Given the description of an element on the screen output the (x, y) to click on. 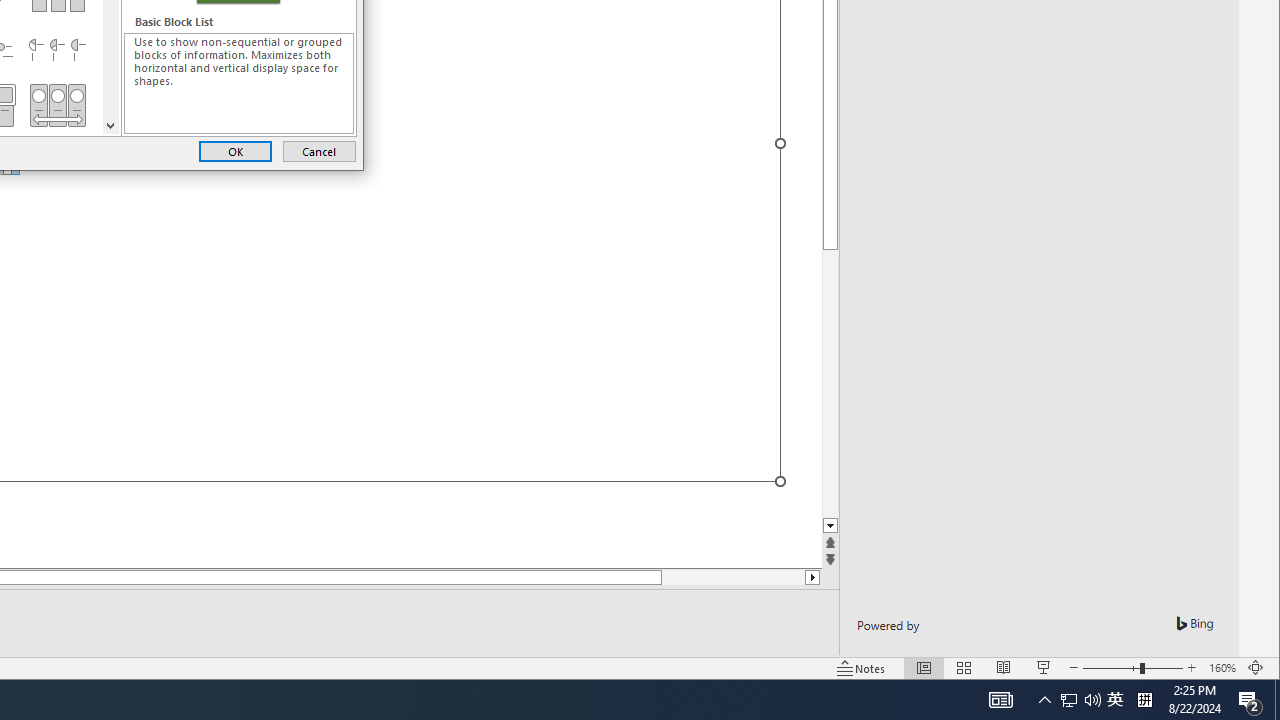
Cancel (319, 150)
Zoom 160% (1222, 668)
Pie Process (57, 49)
Continuous Picture List (57, 105)
